Given the description of an element on the screen output the (x, y) to click on. 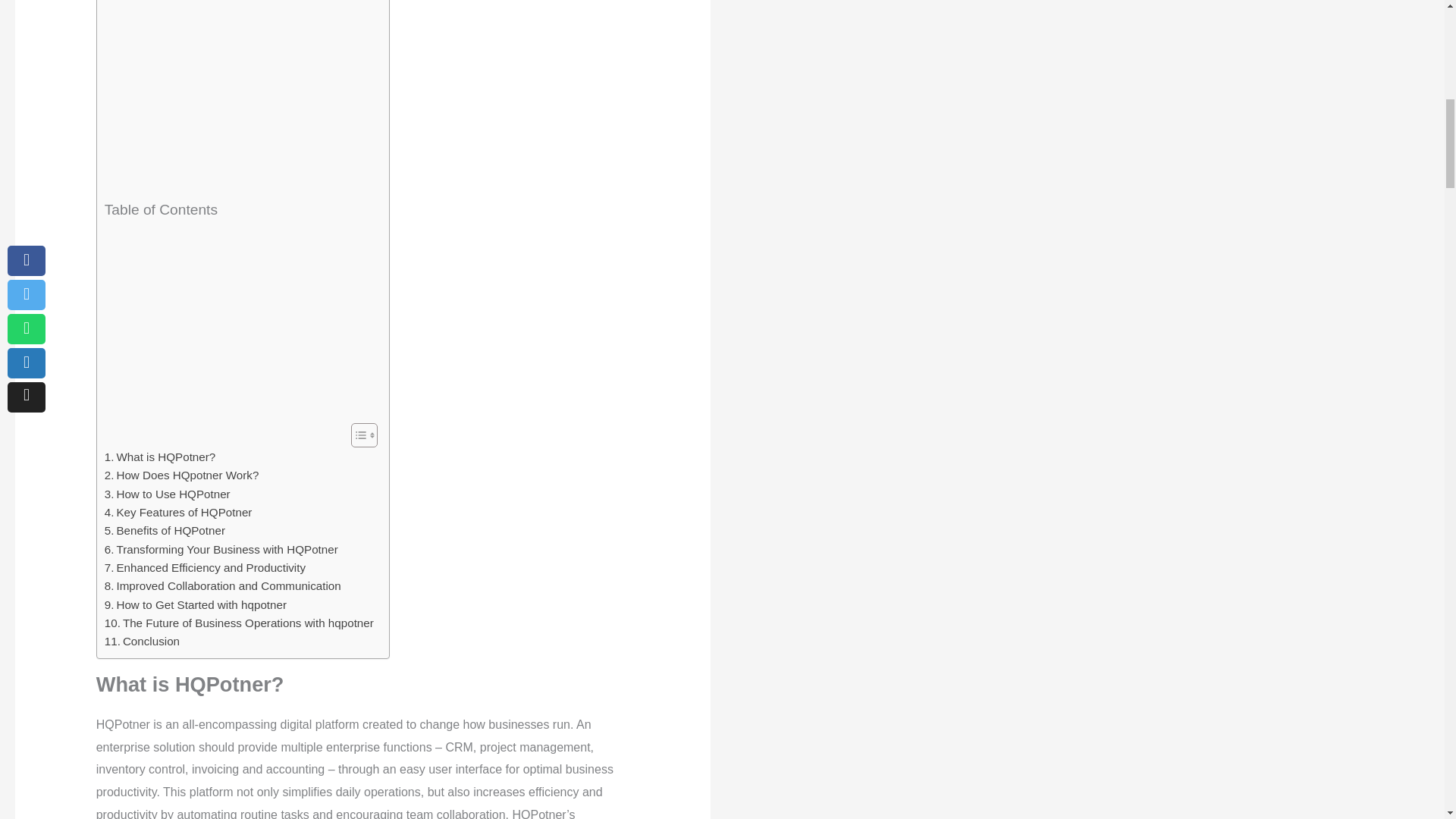
How Does HQpotner Work? (181, 475)
How to Use HQPotner (167, 494)
How to Get Started with hqpotner (195, 605)
Enhanced Efficiency and Productivity (204, 567)
The Future of Business Operations with hqpotner (239, 623)
Improved Collaboration and Communication (222, 586)
Conclusion (141, 641)
Advertisement (239, 96)
How to Use HQPotner (167, 494)
Benefits of HQPotner (164, 530)
How to Get Started with hqpotner (195, 605)
Benefits of HQPotner (164, 530)
What is HQPotner? (159, 456)
Transforming Your Business with HQPotner (220, 549)
Transforming Your Business with HQPotner (220, 549)
